Given the description of an element on the screen output the (x, y) to click on. 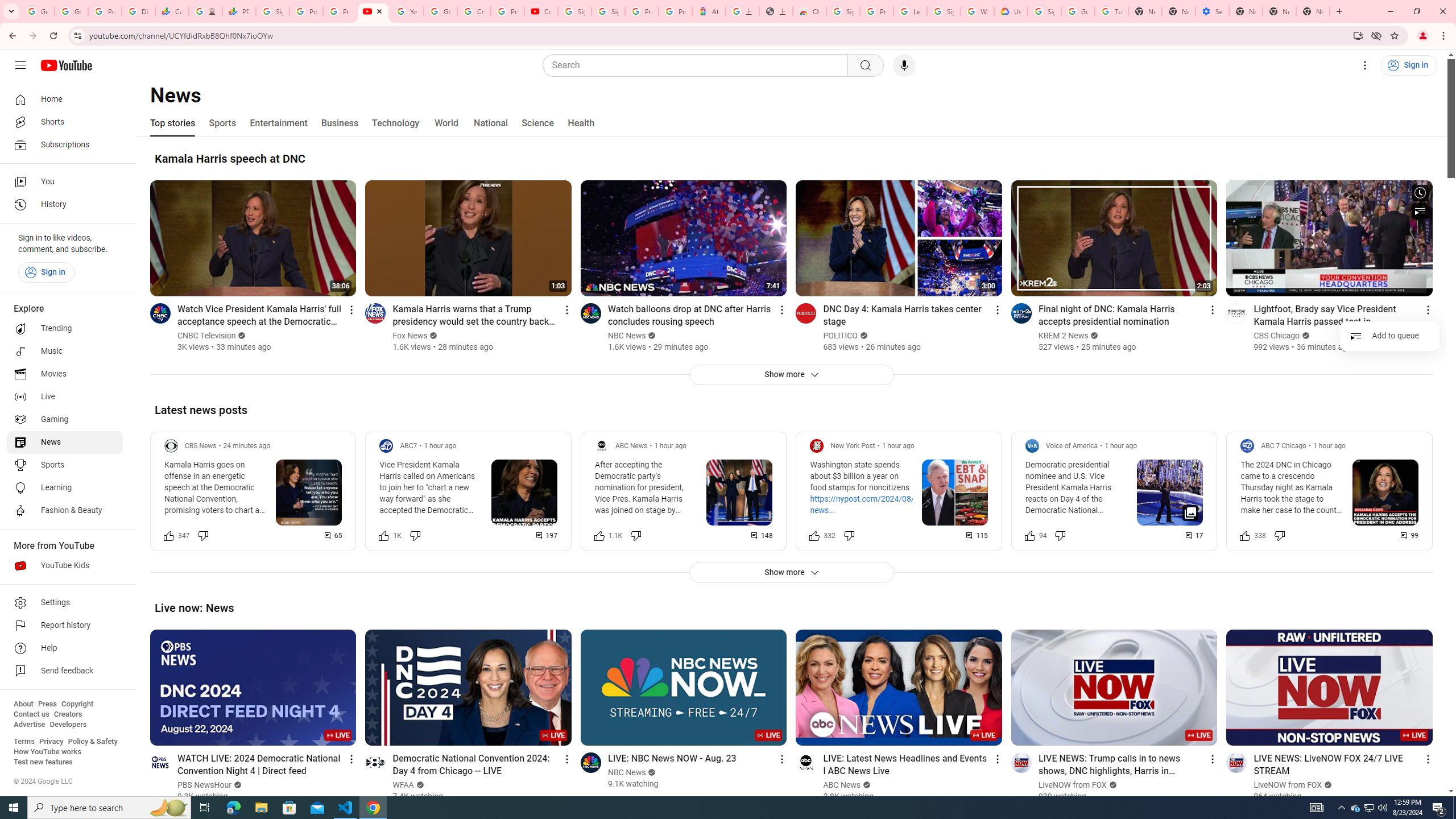
About (23, 703)
CBS Chicago (1276, 335)
Music (64, 350)
Science (537, 122)
Comment (1409, 534)
National (490, 122)
Test new features (42, 761)
Like this post along with 338 other people (1245, 534)
Search with your voice (903, 65)
Business (339, 122)
Sign in - Google Accounts (272, 11)
Home (64, 99)
Developers (68, 724)
CBS News (200, 445)
Technology (395, 122)
